Given the description of an element on the screen output the (x, y) to click on. 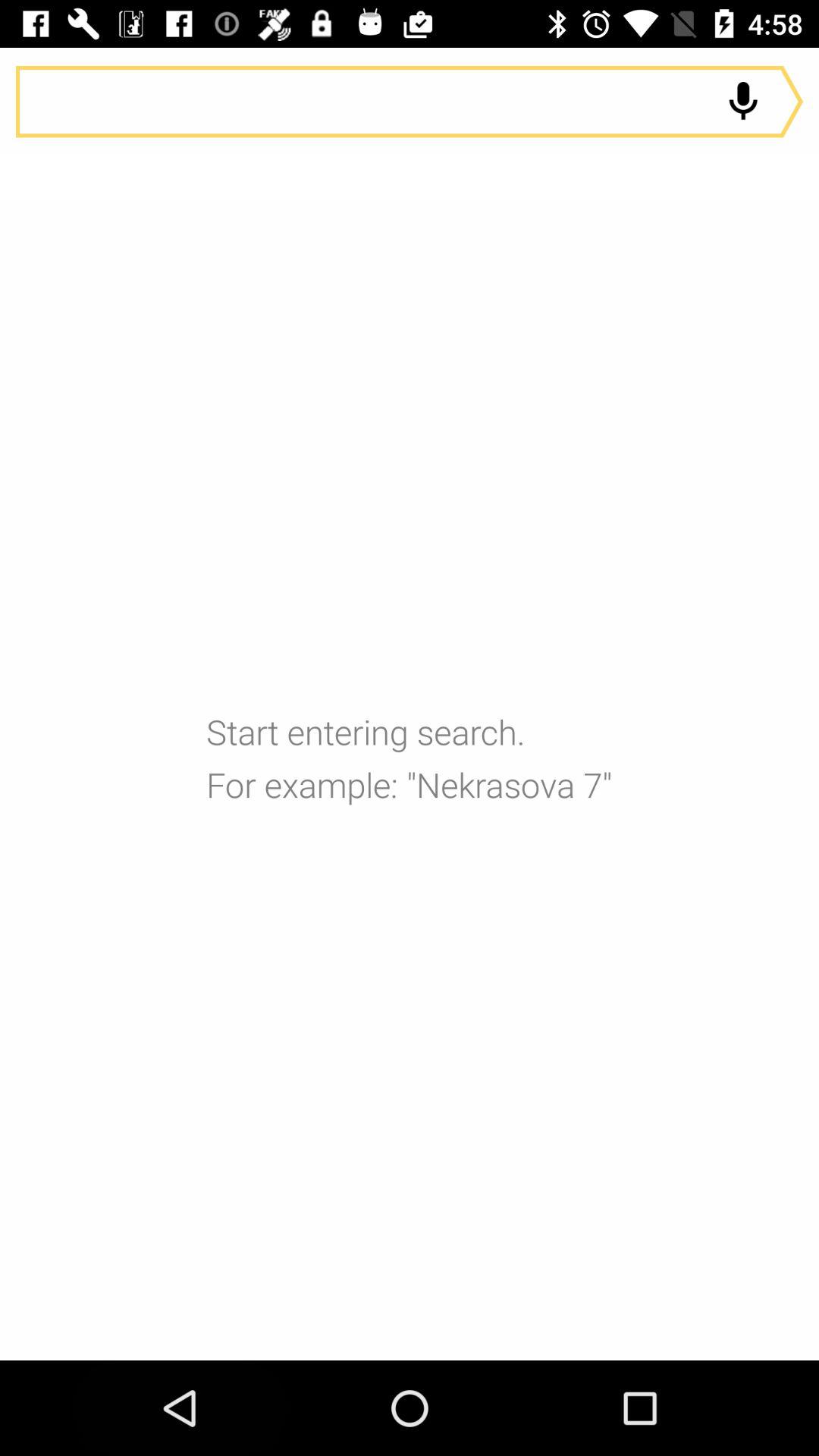
voice search (743, 101)
